Given the description of an element on the screen output the (x, y) to click on. 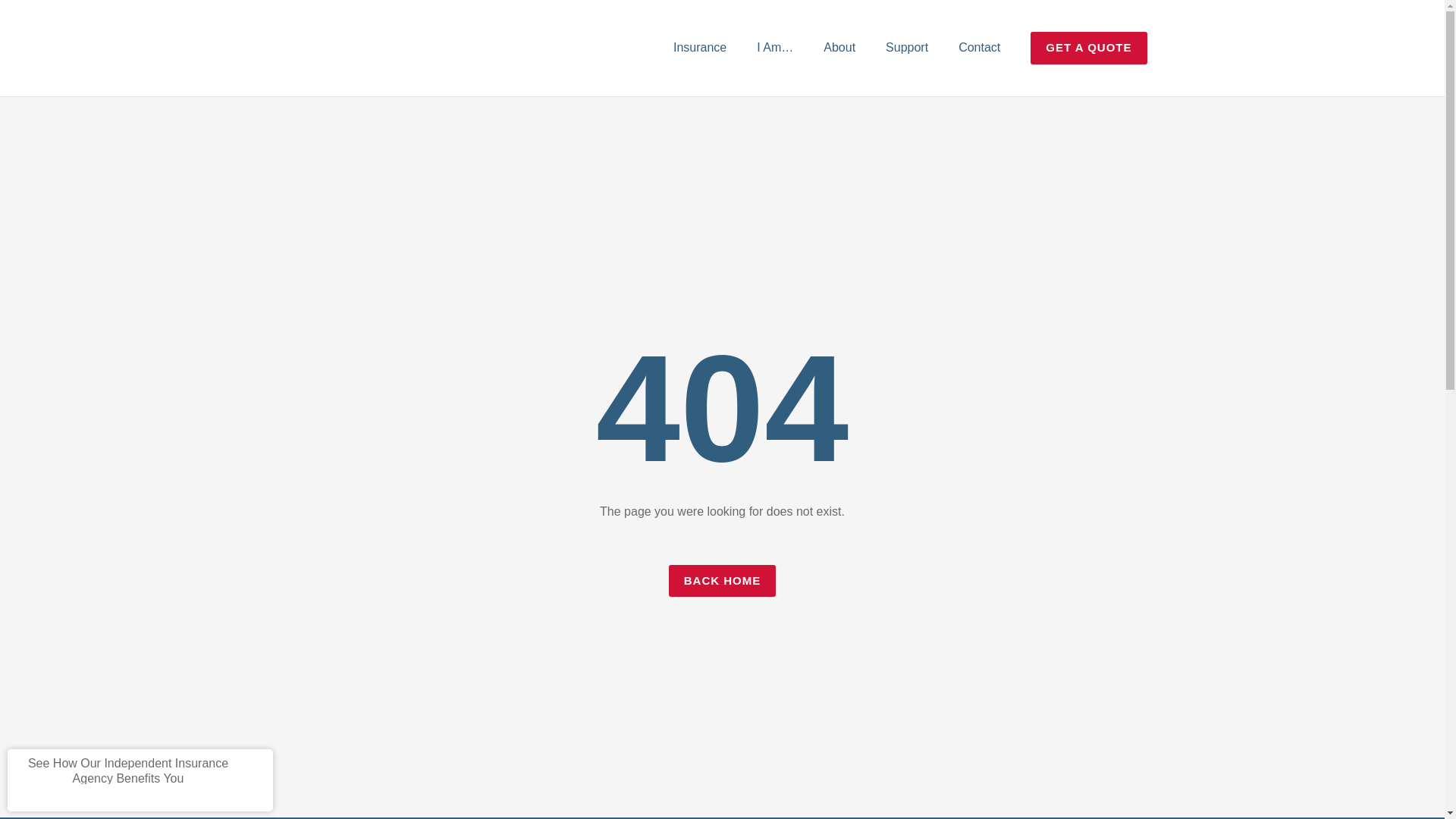
Insurance (699, 47)
Contact (978, 47)
About (839, 47)
Support (906, 47)
corkren-insurance-logo (339, 48)
